Given the description of an element on the screen output the (x, y) to click on. 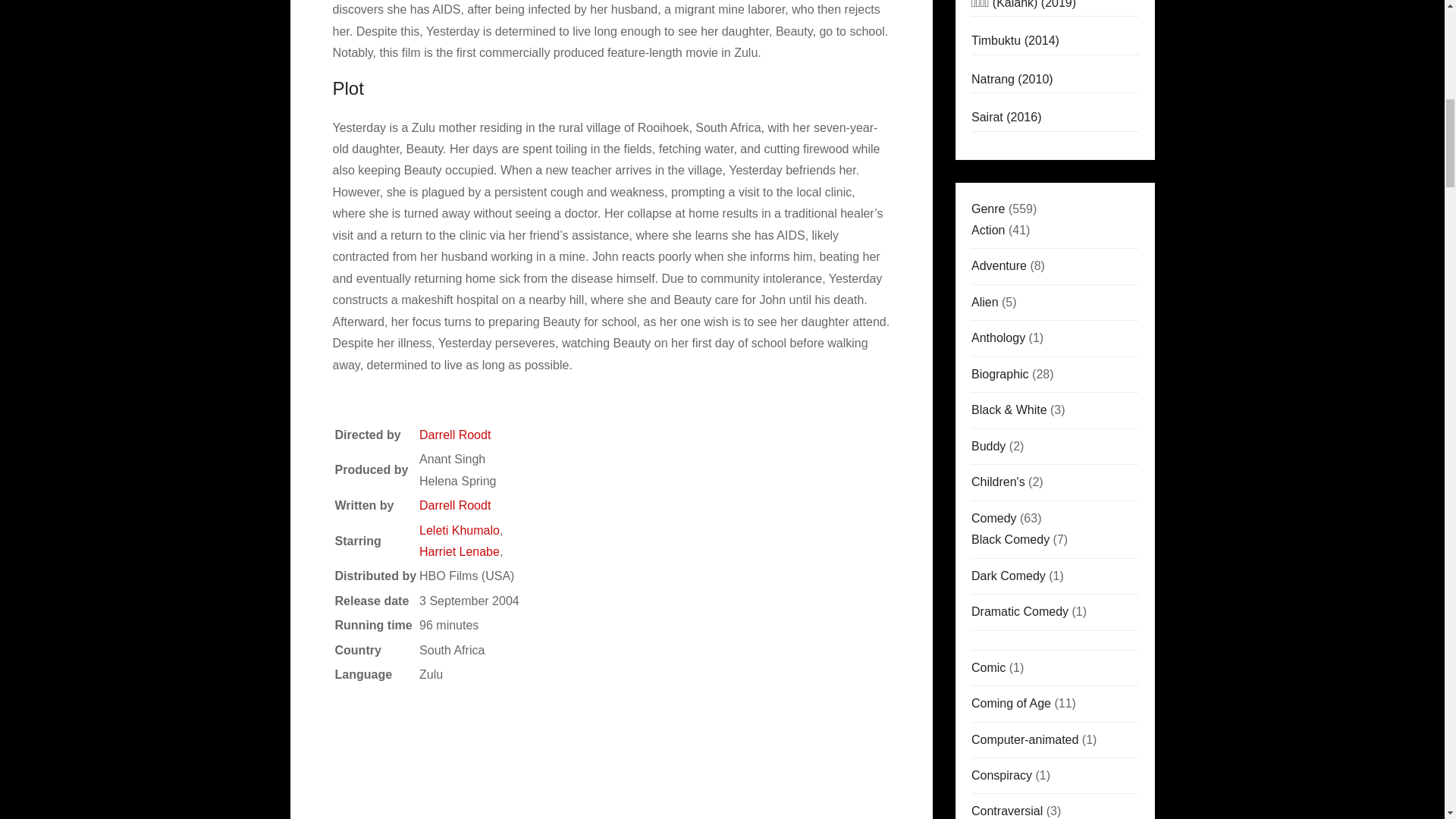
Leleti Khumalo (459, 530)
Posts tagged with Leleti Khumalo (459, 530)
Yesterday Movie trailer (544, 760)
Harriet Lenabe (459, 551)
Posts tagged with Darrell Roodt (454, 504)
Posts tagged with Darrell Roodt (454, 434)
Posts tagged with Harriet Lenabe (459, 551)
Darrell Roodt (454, 434)
Darrell Roodt (454, 504)
